Given the description of an element on the screen output the (x, y) to click on. 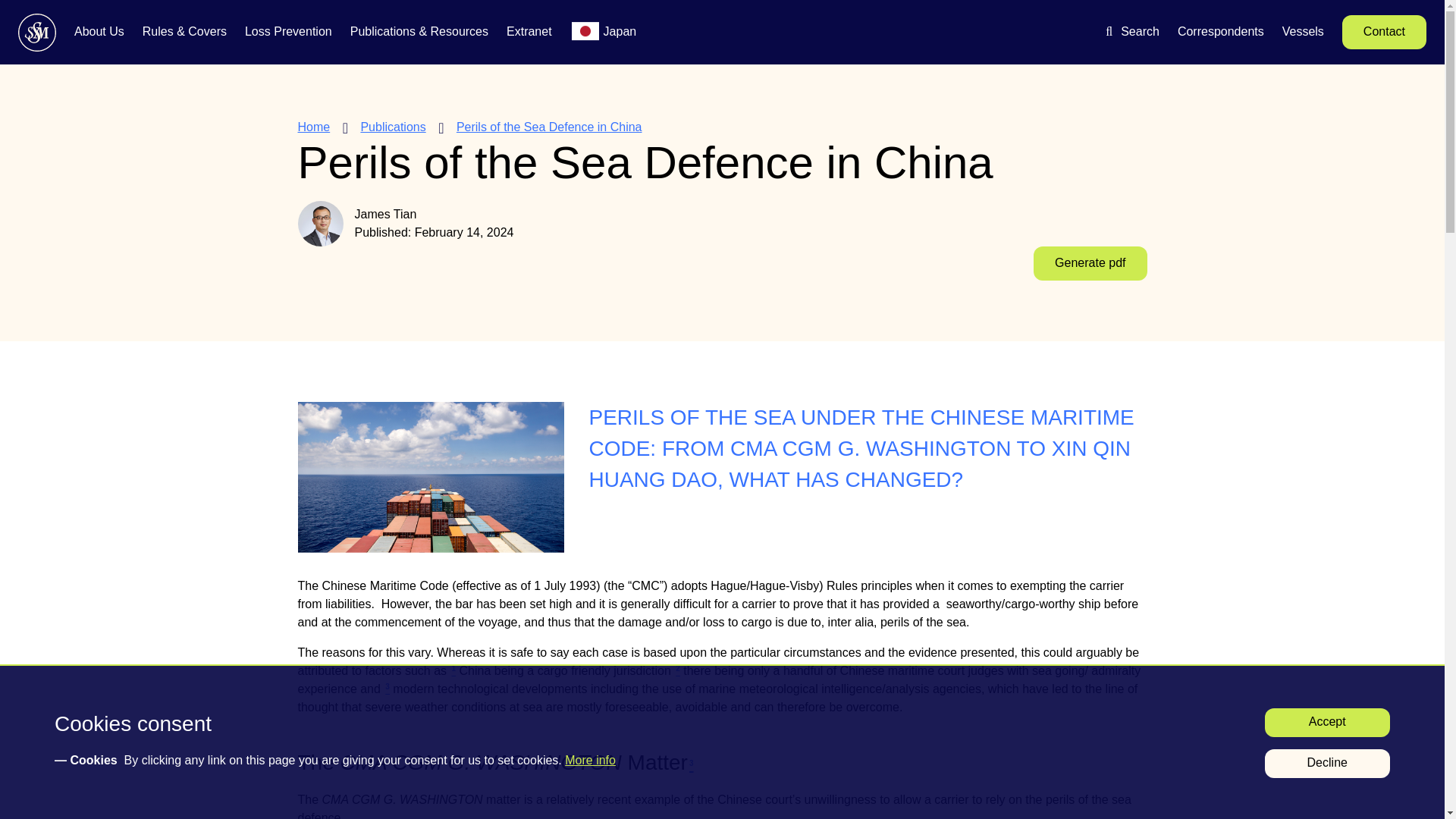
About Us (98, 32)
Extranet (528, 32)
Japan (620, 32)
Club Publications and Resource Information (418, 32)
Loss Prevention (287, 32)
About Us (98, 32)
Club Extranet (528, 32)
Rules and Covers (184, 32)
